Given the description of an element on the screen output the (x, y) to click on. 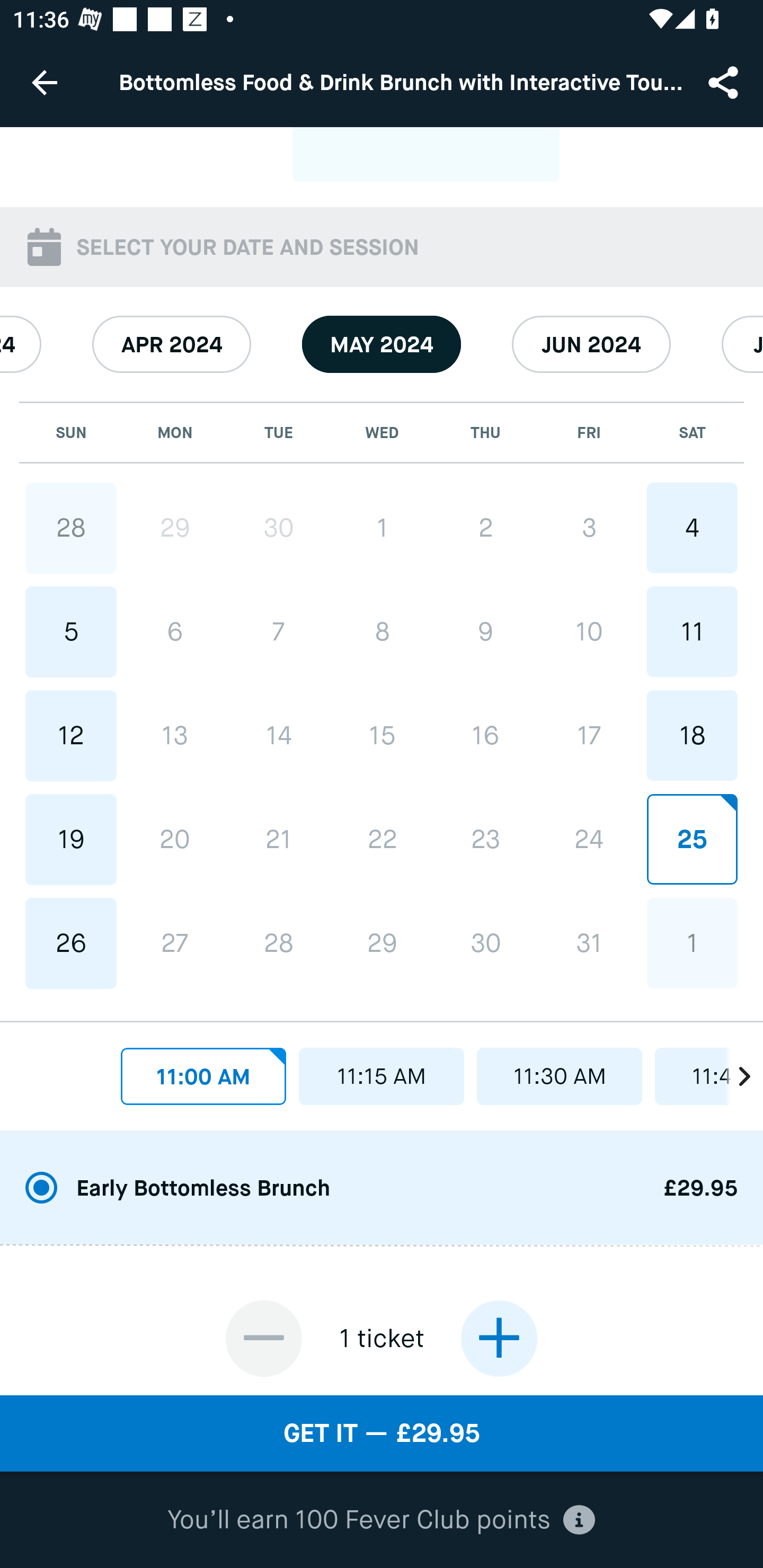
Navigate up (44, 82)
Share (724, 81)
APR 2024 (171, 343)
MAY 2024 (381, 343)
JUN 2024 (590, 343)
28 (70, 527)
29 (174, 527)
30 (278, 527)
1 (382, 527)
2 (485, 527)
3 (588, 527)
4 (692, 527)
5 (70, 631)
6 (174, 631)
7 (278, 631)
8 (382, 631)
9 (485, 631)
10 (588, 631)
11 (692, 631)
12 (70, 734)
13 (174, 734)
14 (278, 734)
15 (382, 734)
16 (485, 734)
17 (588, 734)
18 (692, 734)
19 (70, 839)
20 (174, 839)
21 (278, 839)
22 (382, 838)
23 (485, 838)
24 (588, 838)
25 (692, 838)
26 (70, 943)
27 (174, 943)
28 (278, 943)
29 (382, 942)
30 (485, 942)
31 (588, 942)
1 (692, 942)
chevron (734, 1071)
11:00 AM (203, 1076)
11:15 AM (381, 1076)
11:30 AM (559, 1076)
Early Bottomless Brunch £29.95 (381, 1188)
decrease (263, 1337)
increase (498, 1337)
GET IT — £29.95 (381, 1433)
You’ll earn 100 Fever Club points (381, 1519)
